Given the description of an element on the screen output the (x, y) to click on. 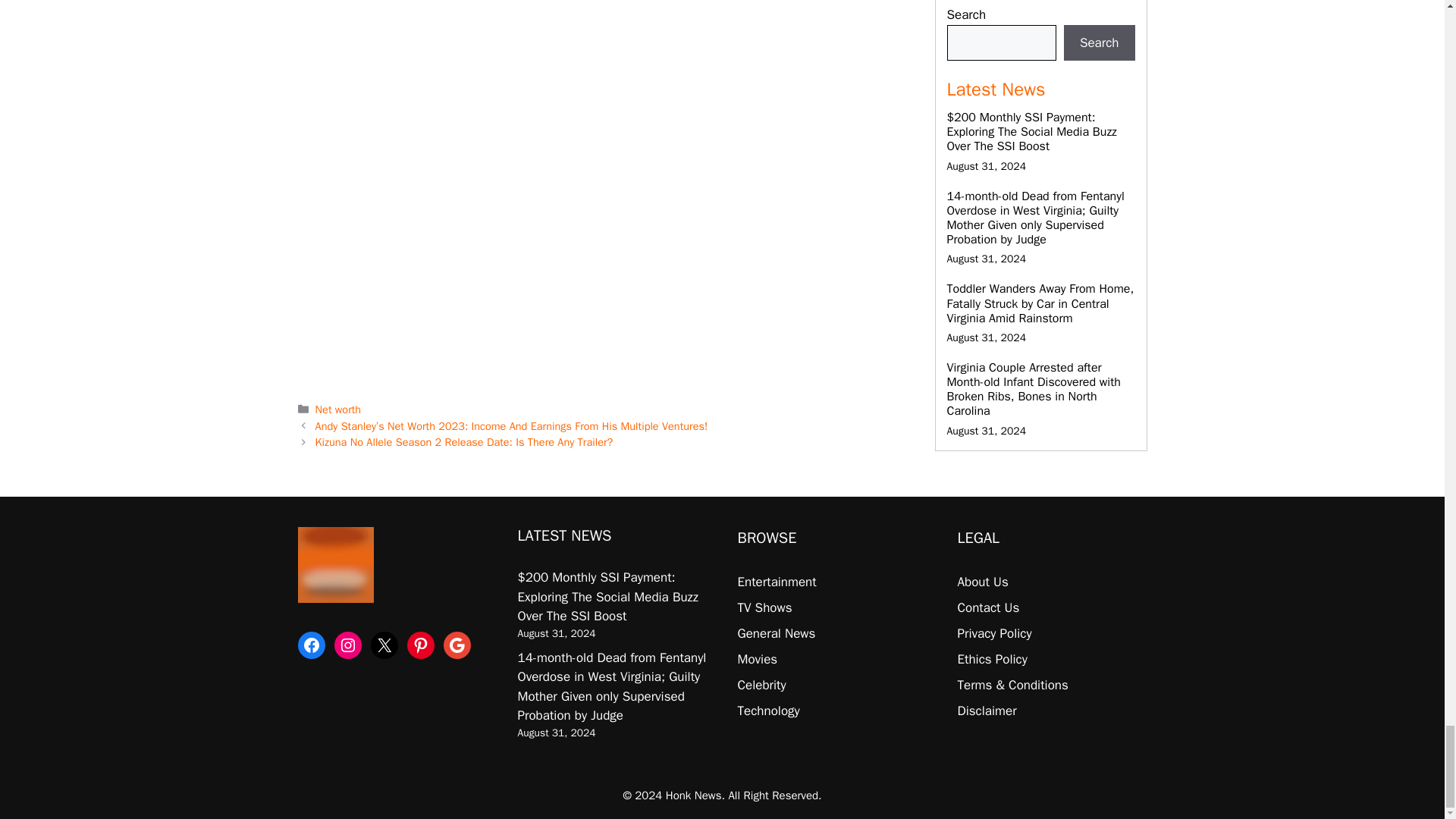
Facebook (310, 645)
X (383, 645)
Instagram (347, 645)
Net worth (338, 409)
